Given the description of an element on the screen output the (x, y) to click on. 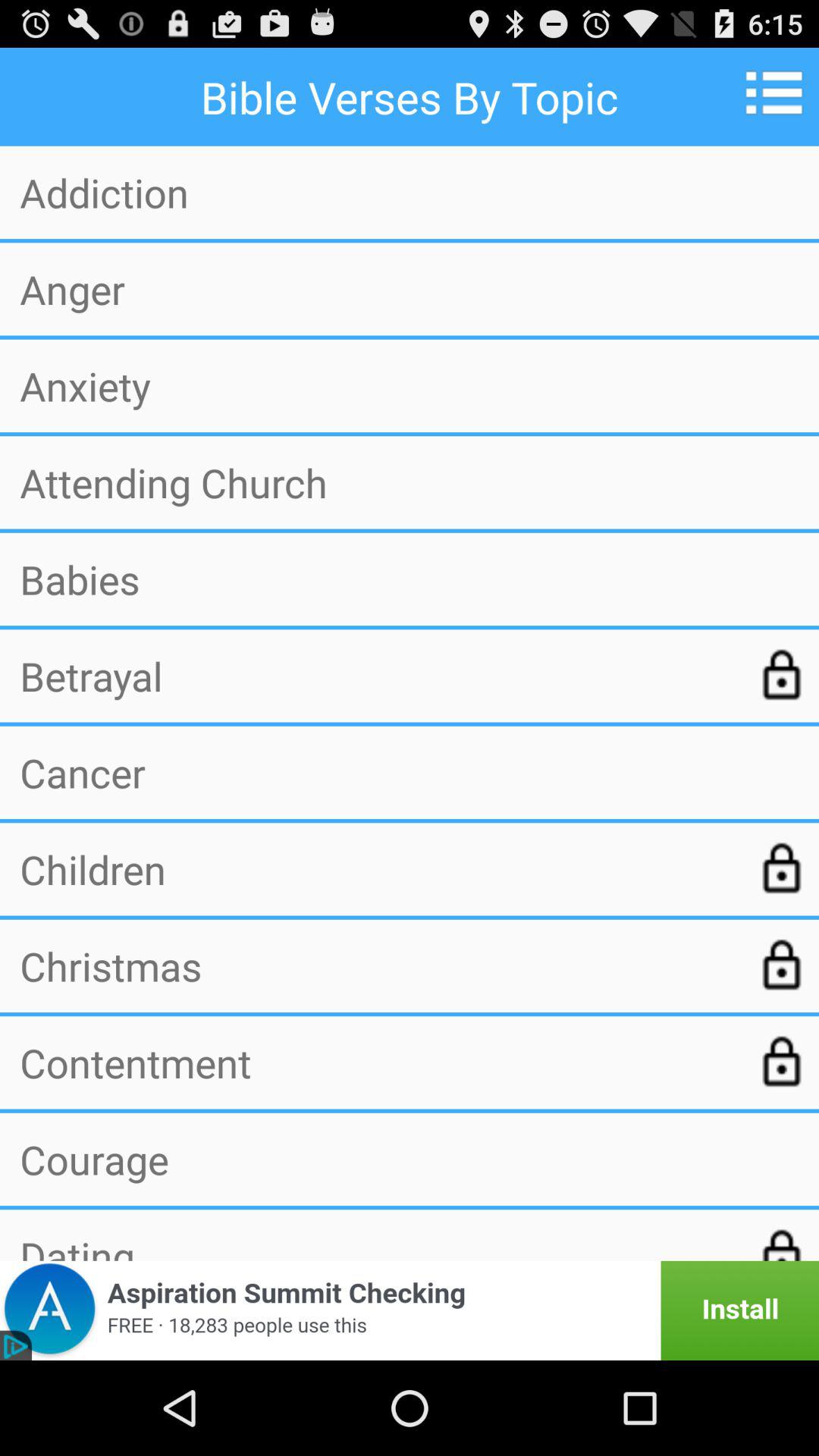
link for add (409, 1310)
